Given the description of an element on the screen output the (x, y) to click on. 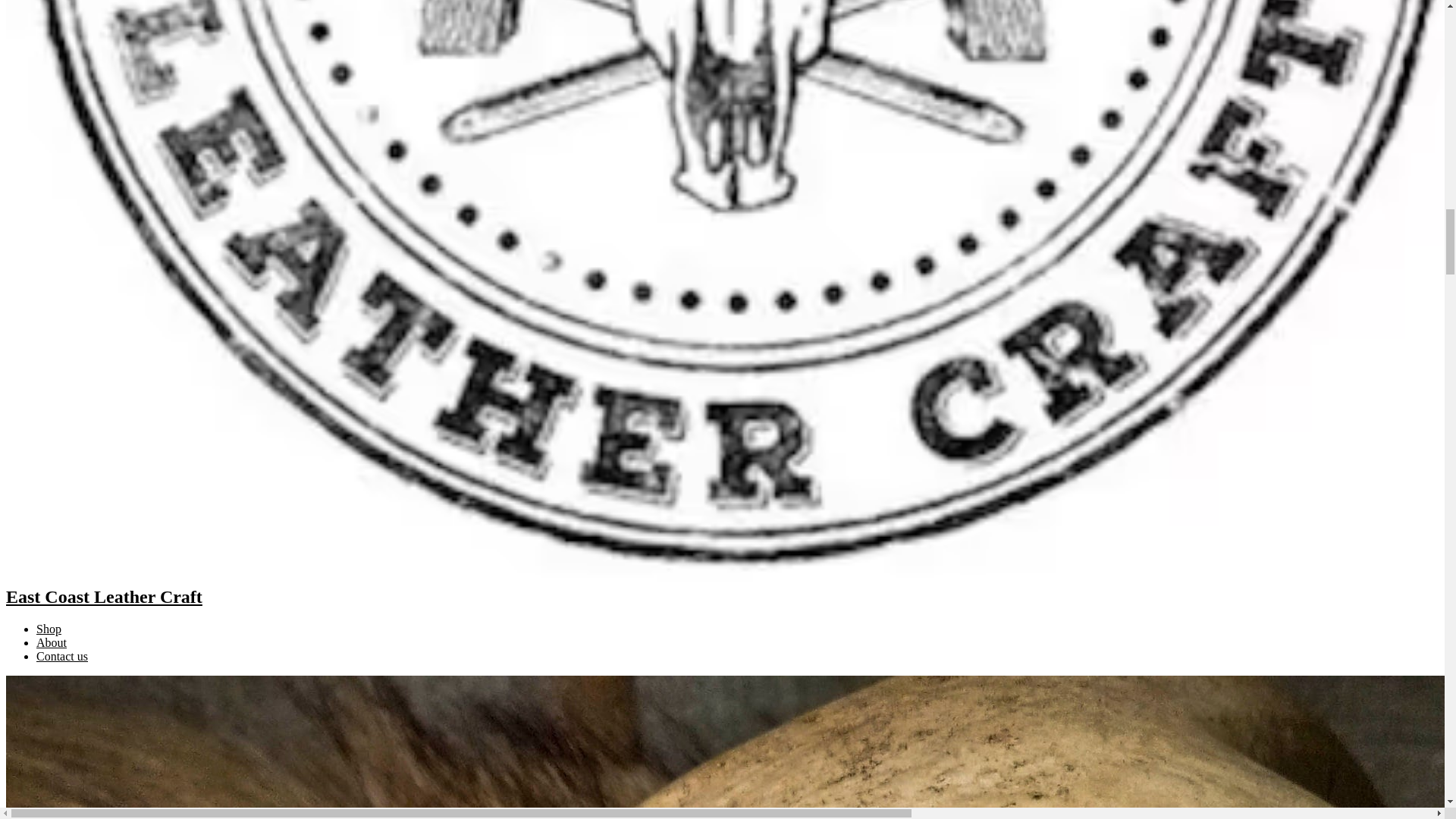
Shop (48, 628)
About (51, 642)
Contact us (61, 656)
